Given the description of an element on the screen output the (x, y) to click on. 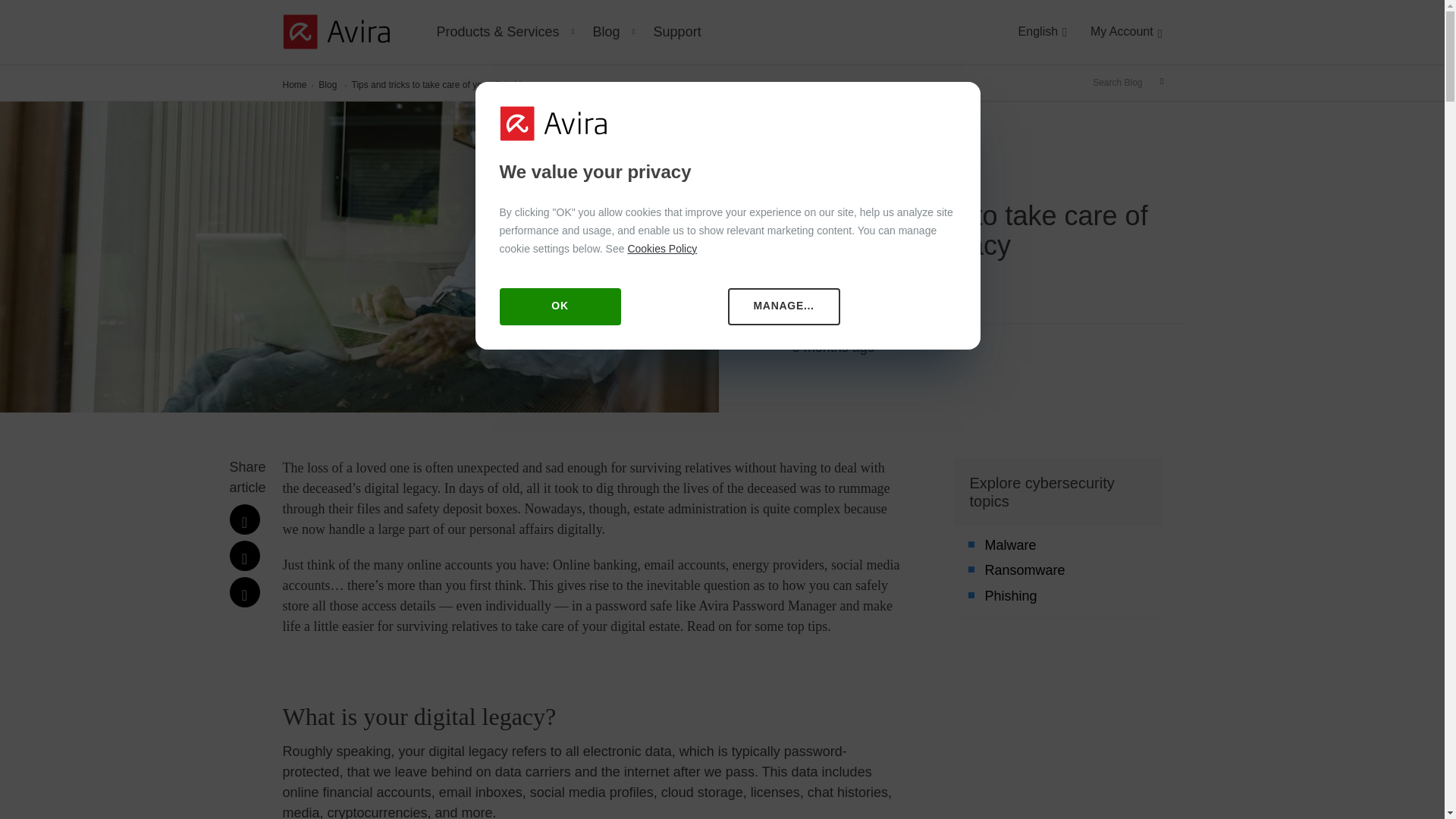
Avira (335, 30)
